Given the description of an element on the screen output the (x, y) to click on. 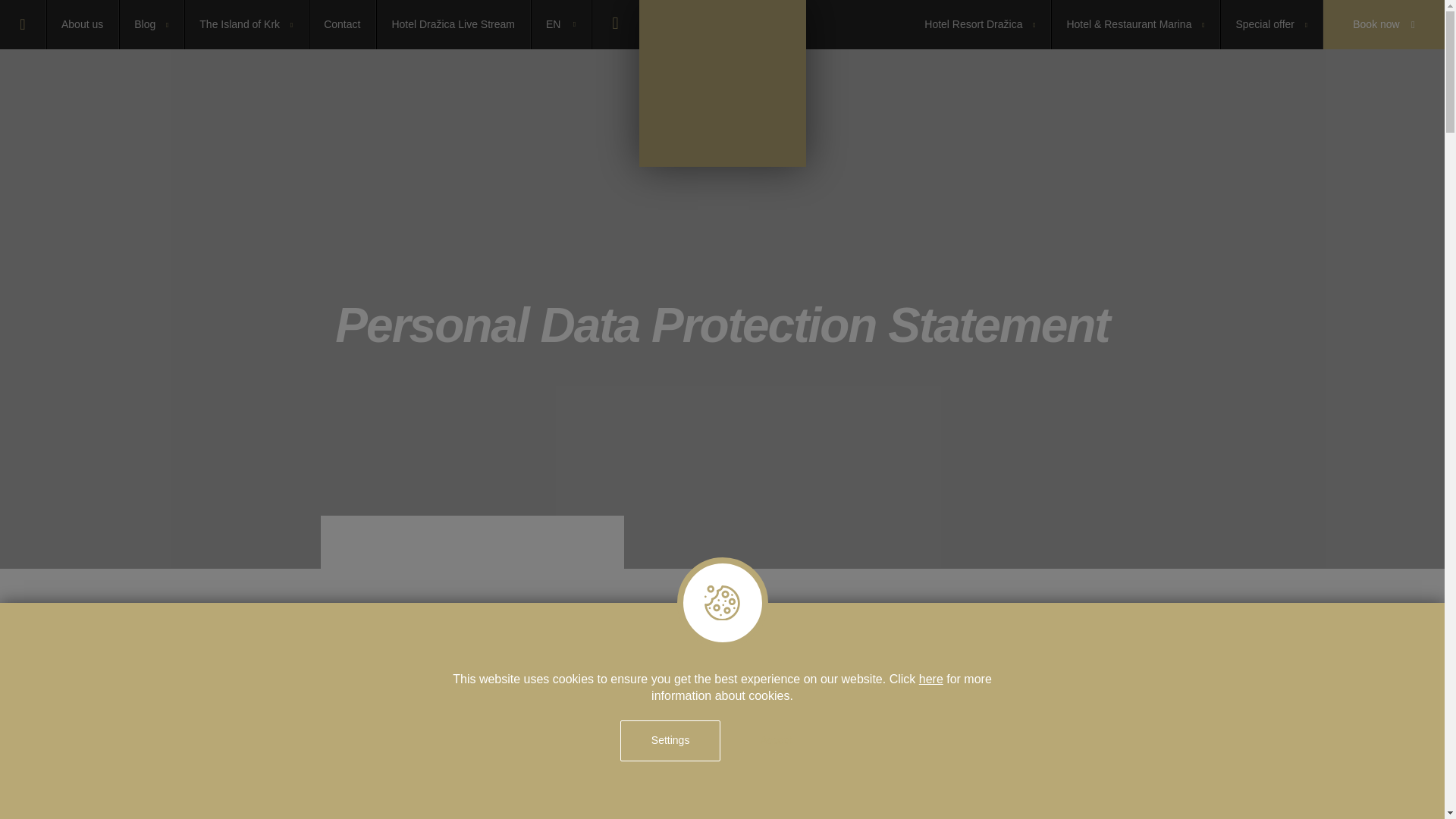
EN (561, 24)
Home (22, 24)
The Island of Krk (245, 24)
About us (81, 24)
Contact (341, 24)
Blog (151, 24)
The Island of Krk (245, 24)
Special offer (1271, 24)
About us (81, 24)
Blog (151, 24)
Contact (341, 24)
